Given the description of an element on the screen output the (x, y) to click on. 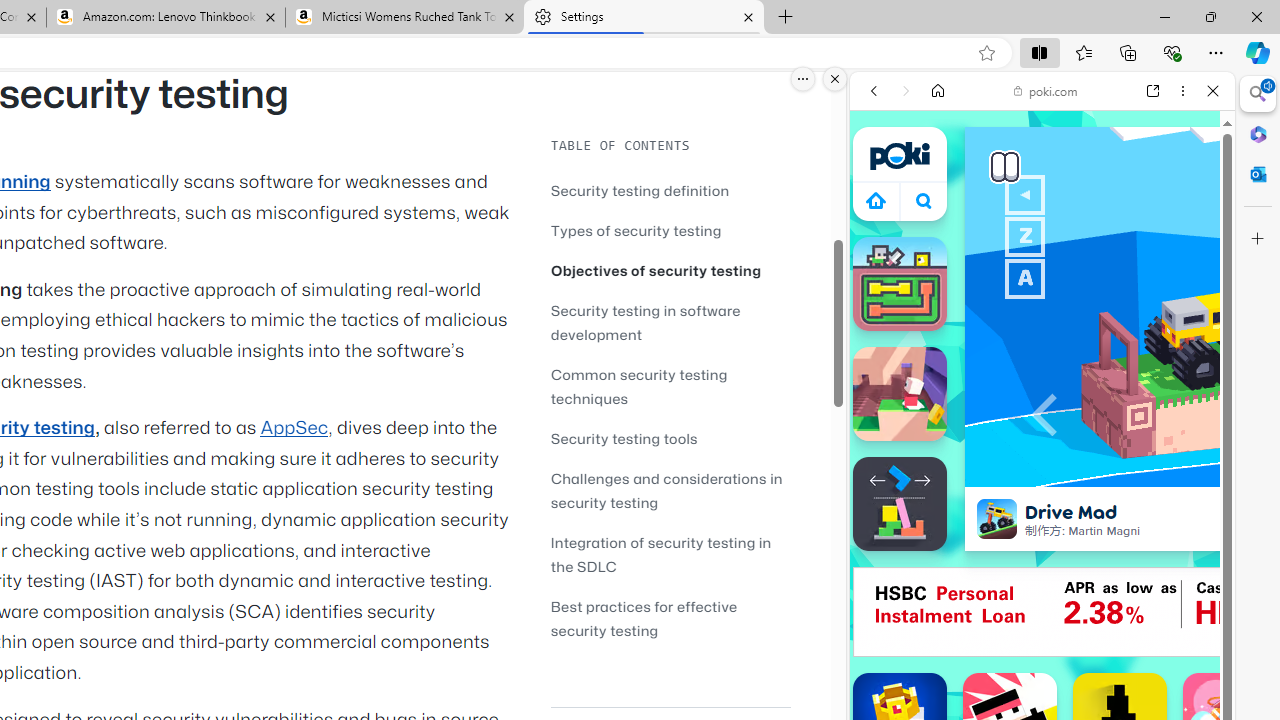
Security testing definition (670, 190)
Objectives of security testing (670, 269)
Security testing in software development (645, 321)
Monster Match (899, 283)
Poki (1034, 288)
